Given the description of an element on the screen output the (x, y) to click on. 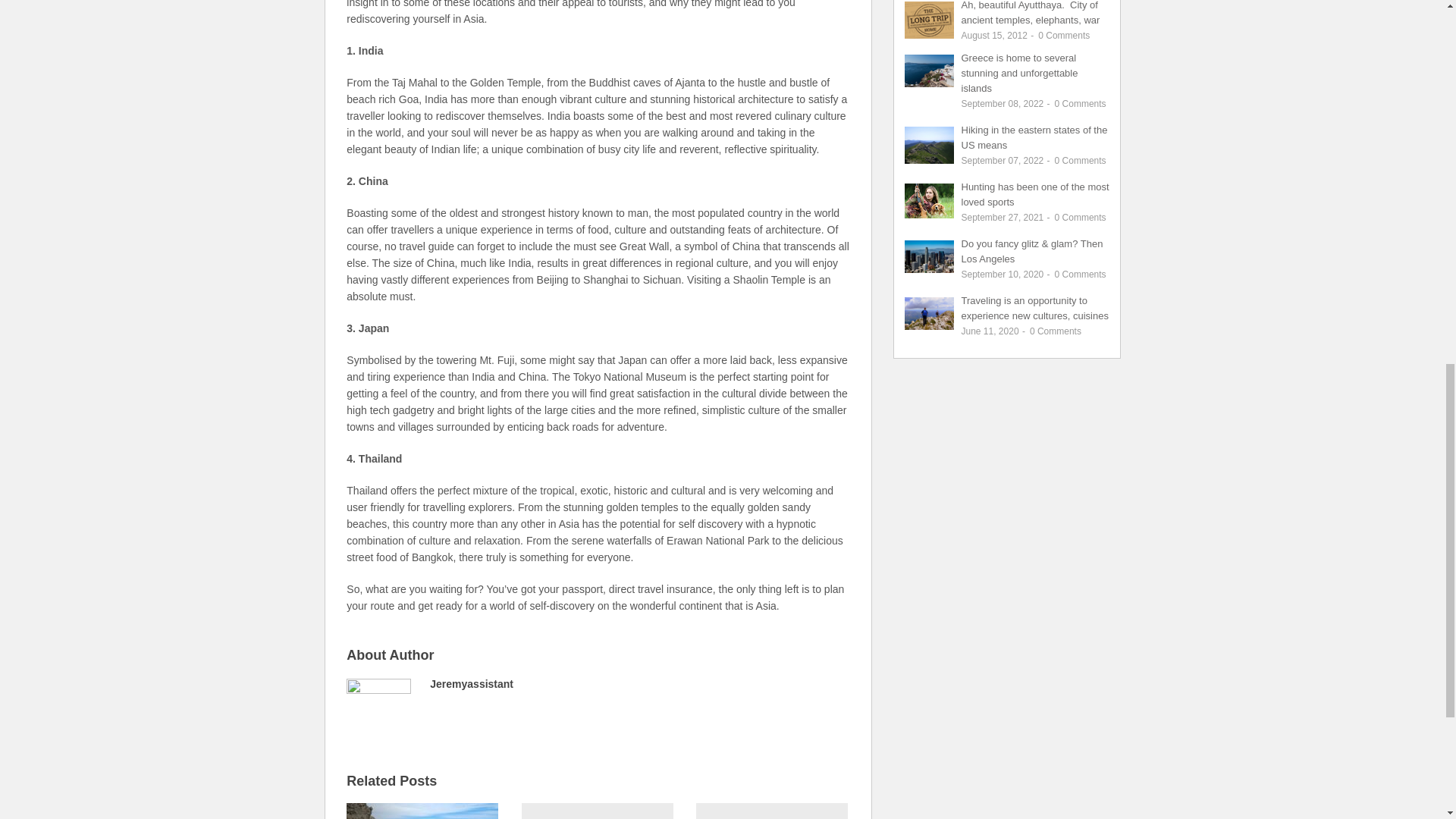
Must-Visit Attractions in Los Angeles (1031, 251)
Hiking in the Eastern States (1034, 137)
Greece is home to several stunning and unforgettable islands (1019, 73)
Best Ranches for Hunting in America (1034, 194)
Night Time in Ayutthaya (1030, 12)
Travel Injury: What To Do If You Are Hurt While Traveling (1034, 307)
